Given the description of an element on the screen output the (x, y) to click on. 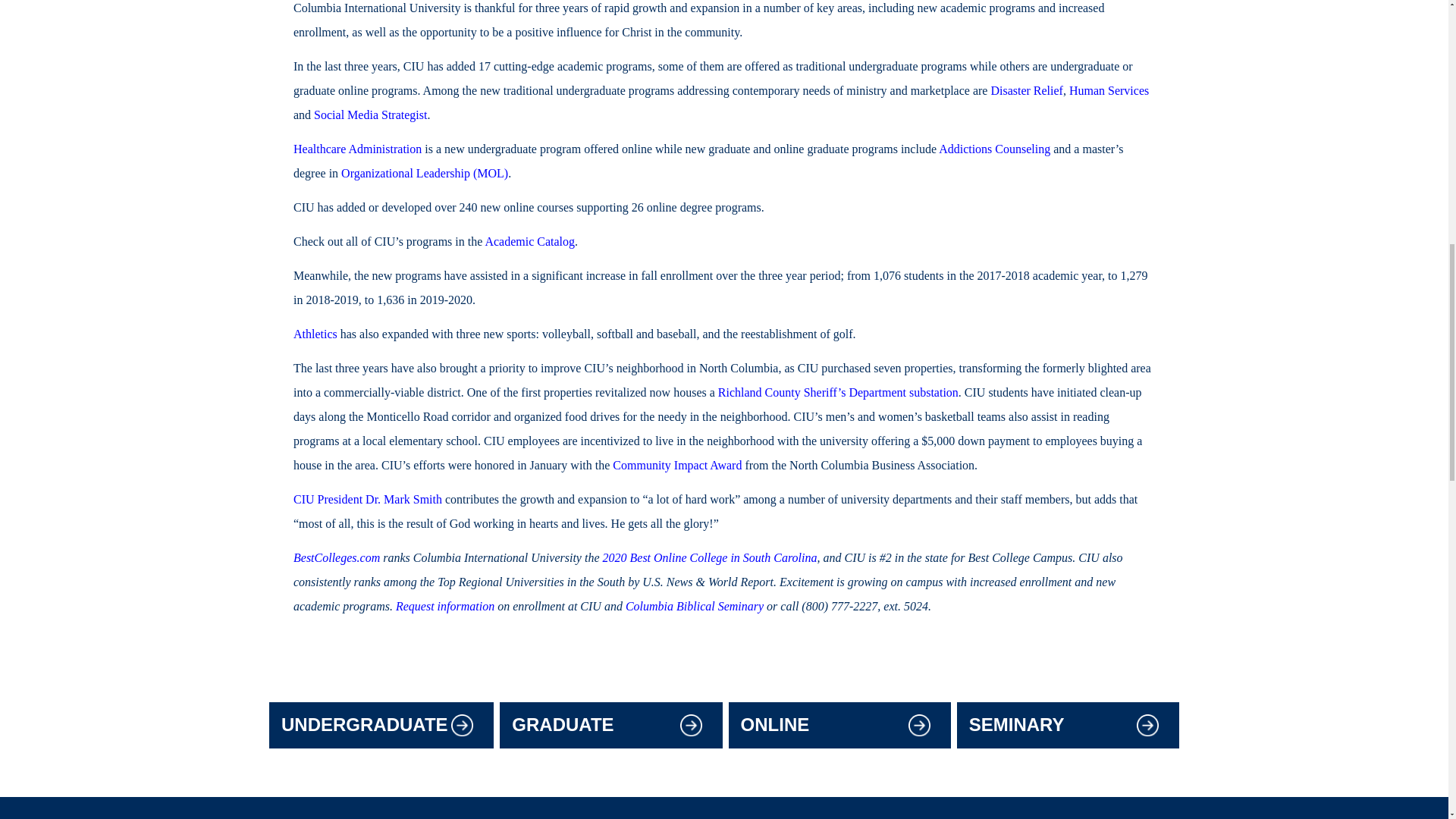
Columbia Biblical Seminary (694, 606)
Addictions Counseling (994, 149)
Academic Catalog (529, 241)
Healthcare Administration (358, 149)
Community Impact Award (676, 465)
Disaster Relief (1026, 91)
Social Media Strategist (370, 114)
Athletics (315, 334)
UNDERGRADUATE (364, 725)
